Given the description of an element on the screen output the (x, y) to click on. 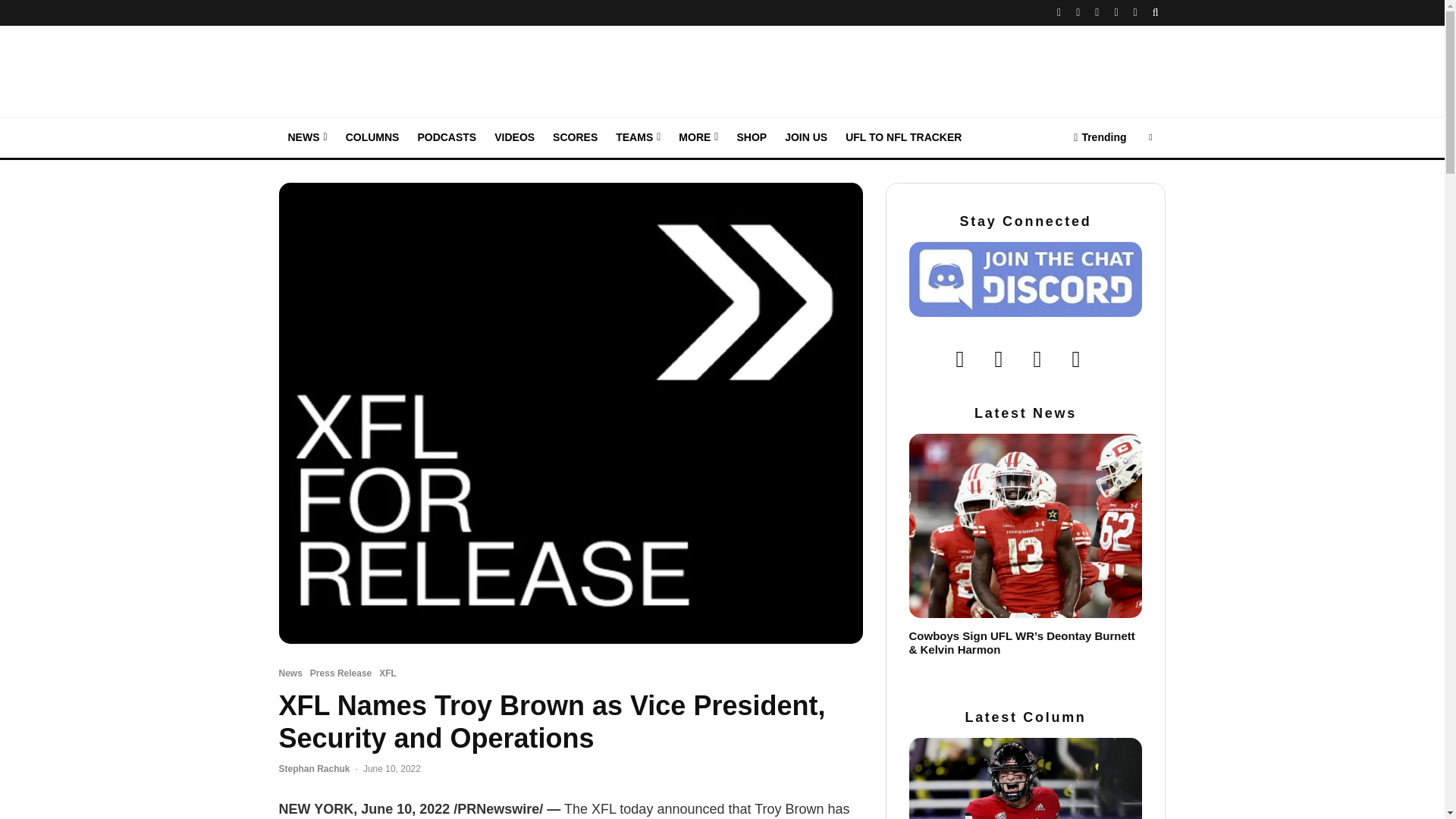
COLUMNS (372, 137)
PODCASTS (445, 137)
NEWS (307, 137)
Posts by Stephan Rachuk (314, 768)
